Given the description of an element on the screen output the (x, y) to click on. 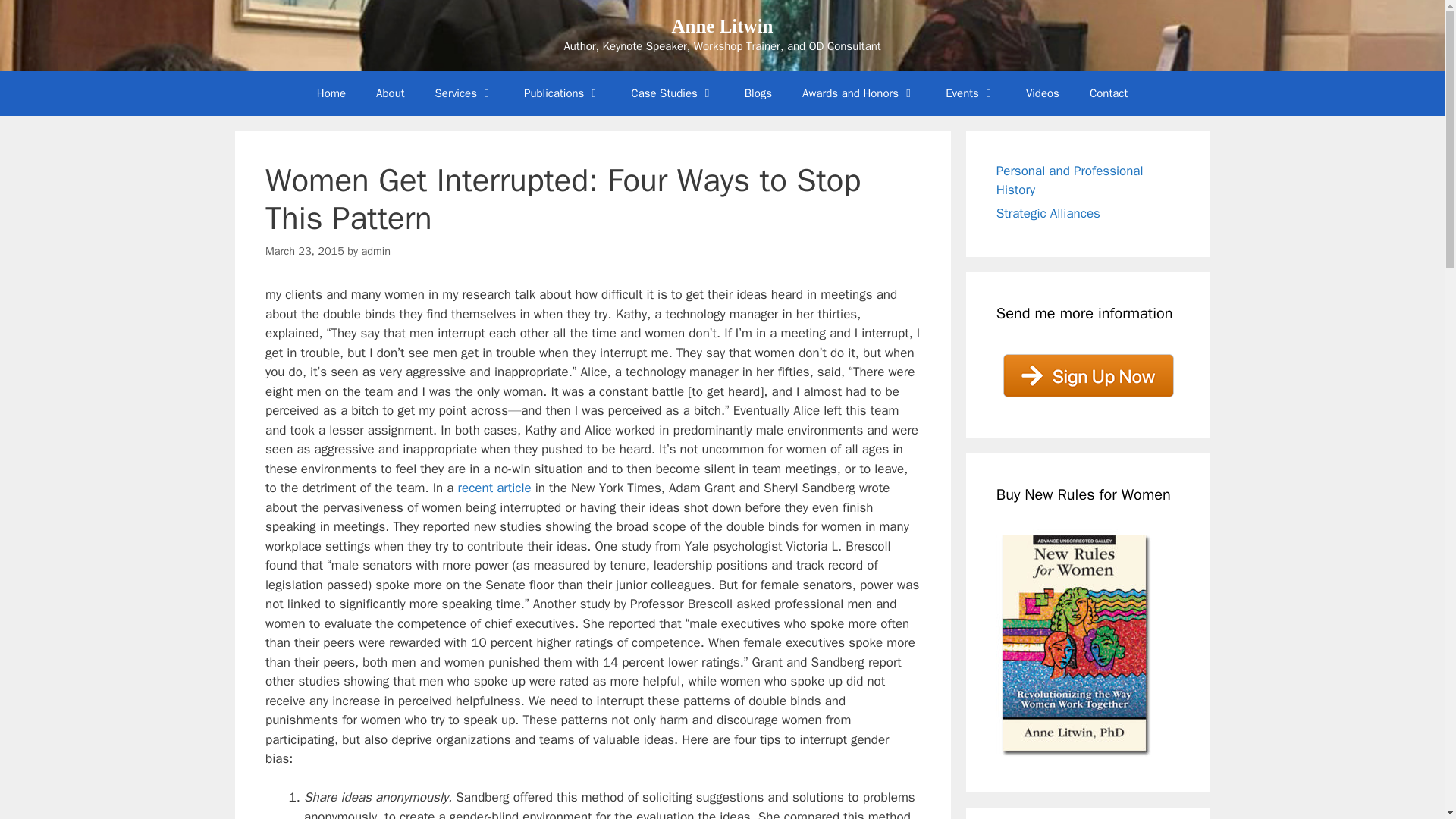
Awards and Honors (858, 92)
Services (464, 92)
Publications (561, 92)
Events (970, 92)
Videos (1042, 92)
Blogs (758, 92)
admin (375, 250)
Anne Litwin (722, 25)
Case Studies (672, 92)
Contact (1108, 92)
About (390, 92)
